Given the description of an element on the screen output the (x, y) to click on. 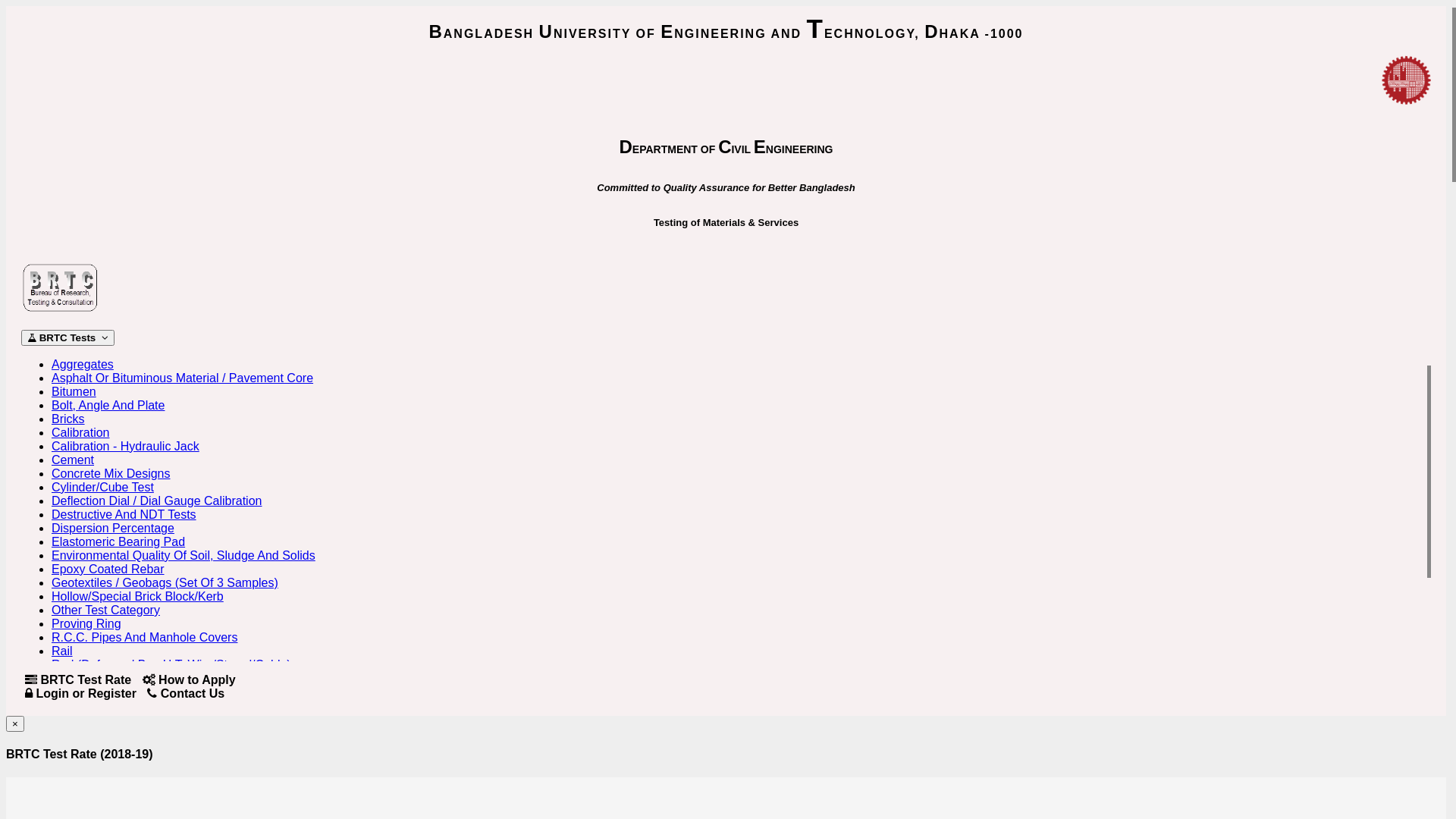
Epoxy Coated Rebar Element type: text (107, 568)
Concrete Mix Designs Element type: text (110, 473)
Soil / Geo-technical Test Element type: text (116, 718)
Bricks Element type: text (67, 418)
Bitumen Element type: text (73, 391)
 BRTC Test Rate Element type: text (78, 679)
Deflection Dial / Dial Gauge Calibration Element type: text (156, 500)
Timber Test Element type: text (82, 746)
Rubber / Plastic / PVC Materials Element type: text (138, 705)
Tubewell Design Element type: text (96, 759)
Rod (Deformed Bar, H.T. Wire/Strand/Cable) Element type: text (171, 664)
Destructive And NDT Tests Element type: text (123, 514)
Rod (Miscellaneous) Element type: text (106, 677)
Rail Element type: text (61, 650)
R.C.C. Pipes And Manhole Covers Element type: text (144, 636)
Cylinder/Cube Test Element type: text (102, 486)
Calibration - Hydraulic Jack Element type: text (125, 445)
Cement Element type: text (72, 459)
Bolt, Angle And Plate Element type: text (107, 404)
Environmental Quality Of Soil, Sludge And Solids Element type: text (183, 555)
Other Test Category Element type: text (105, 609)
Elastomeric Bearing Pad Element type: text (118, 541)
 Login or Register Element type: text (80, 693)
Hollow/Special Brick Block/Kerb Element type: text (137, 595)
Asphalt Or Bituminous Material / Pavement Core Element type: text (182, 377)
Geotextiles / Geobags (Set Of 3 Samples) Element type: text (164, 582)
 Contact Us Element type: text (185, 693)
Proving Ring Element type: text (86, 623)
Dispersion Percentage Element type: text (112, 527)
Water Element type: text (67, 773)
Aggregates Element type: text (82, 363)
Tiles (Set Of 5 Nos.) Element type: text (105, 732)
Calibration Element type: text (80, 432)
 BRTC Tests   Element type: text (67, 337)
 How to Apply Element type: text (188, 679)
Rod (Shaft, H.T. Wire/Strand/Cable) Element type: text (147, 691)
